Given the description of an element on the screen output the (x, y) to click on. 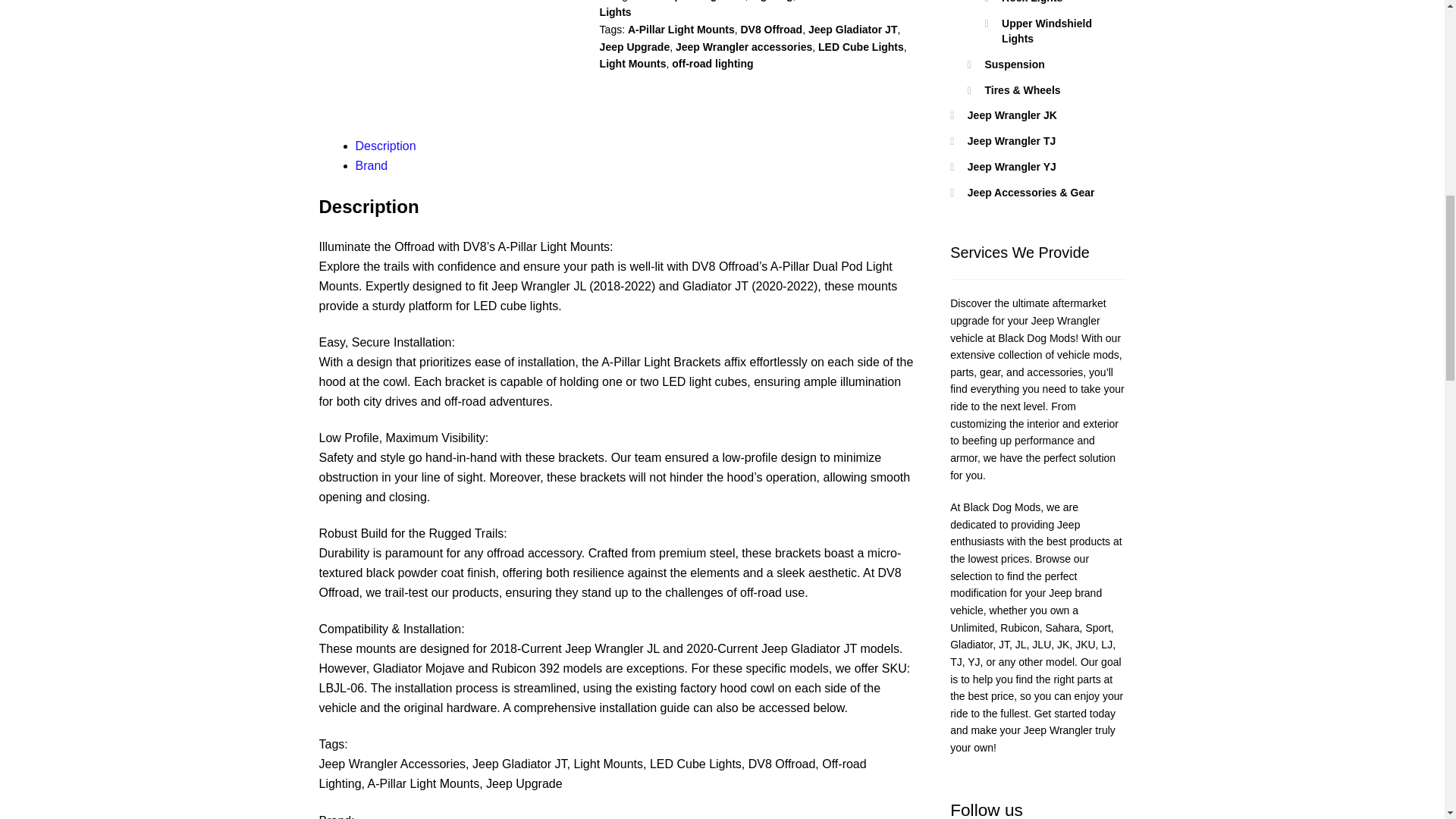
Jeep Wrangler JL (700, 0)
Lower Windshield Lights (744, 9)
A-Pillar Light Mounts (681, 29)
Lighting (771, 0)
Light Mounts (632, 63)
Jeep Gladiator JT (852, 29)
off-road lighting (711, 63)
Jeep Wrangler accessories (743, 46)
Brand (371, 164)
Jeep Upgrade (634, 46)
